Given the description of an element on the screen output the (x, y) to click on. 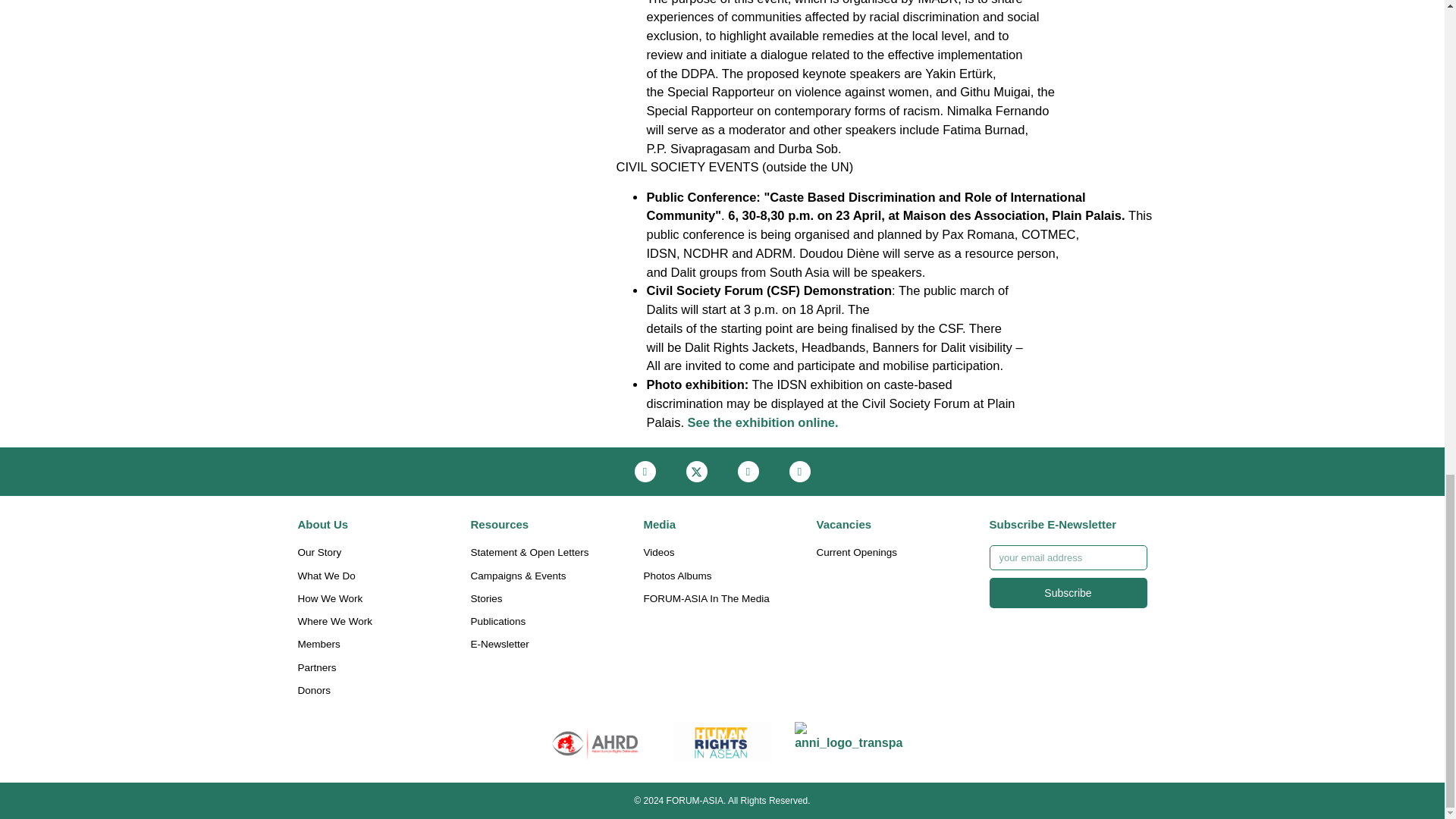
Opens external link in new window (762, 422)
Default Title (722, 741)
Default Title (595, 741)
Default Title (848, 741)
